Given the description of an element on the screen output the (x, y) to click on. 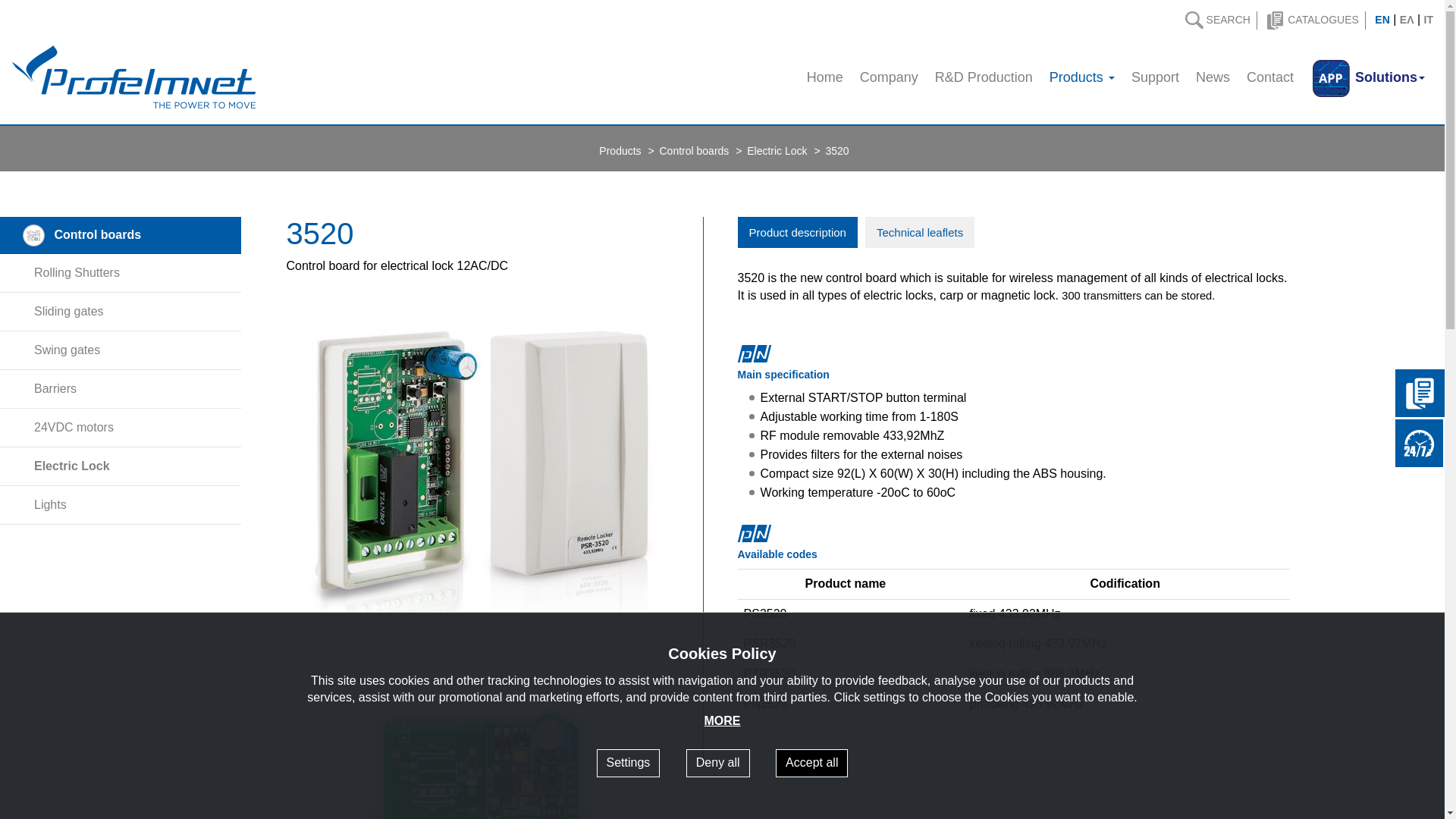
 CATALOGUES (1315, 20)
EN (1381, 19)
